Given the description of an element on the screen output the (x, y) to click on. 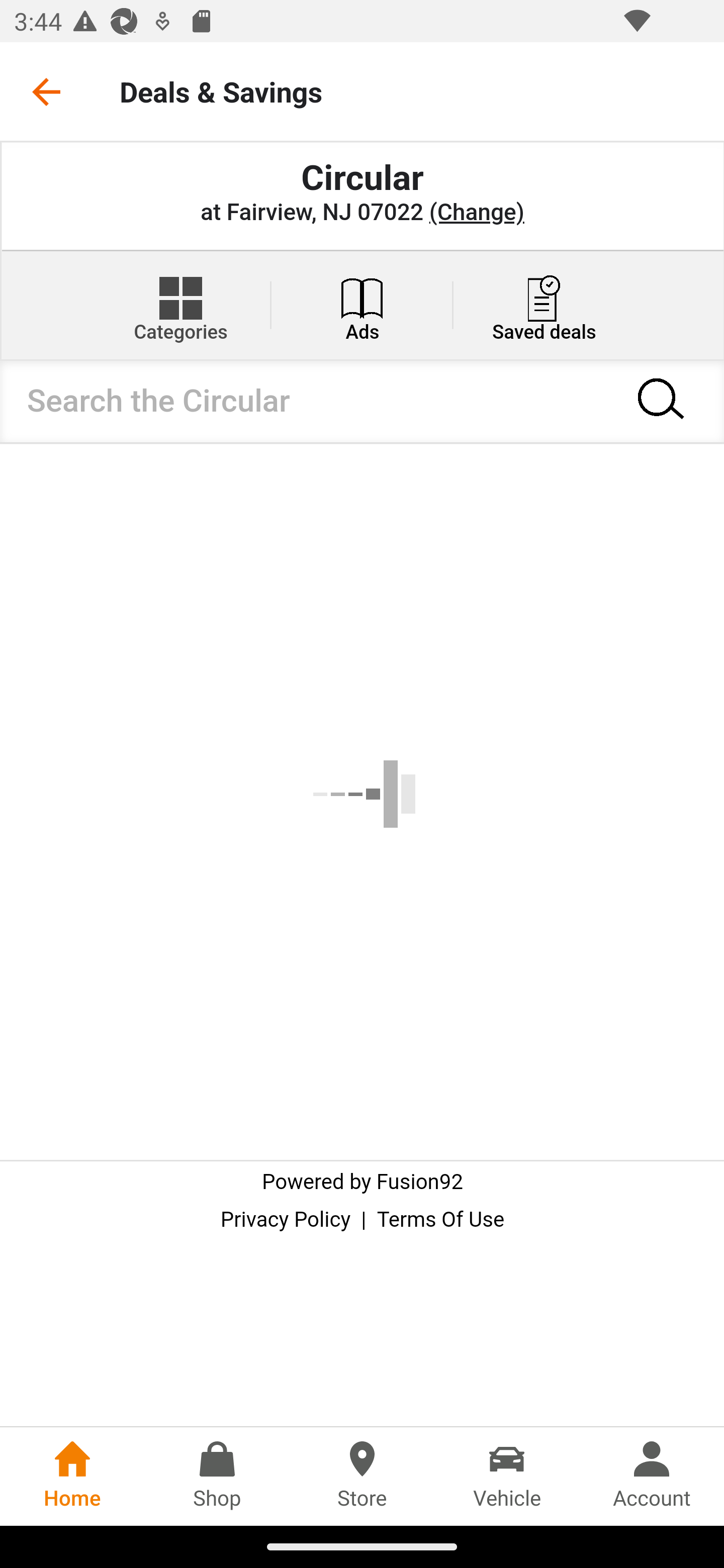
Go back (45, 91)
(Change) (475, 213)
Categories (180, 304)
Ads (361, 304)
Saved deals (544, 304)
Privacy Policy (285, 1219)
Terms Of Use (440, 1219)
Home (72, 1475)
Shop (216, 1475)
Store (361, 1475)
Vehicle (506, 1475)
Account (651, 1475)
